Given the description of an element on the screen output the (x, y) to click on. 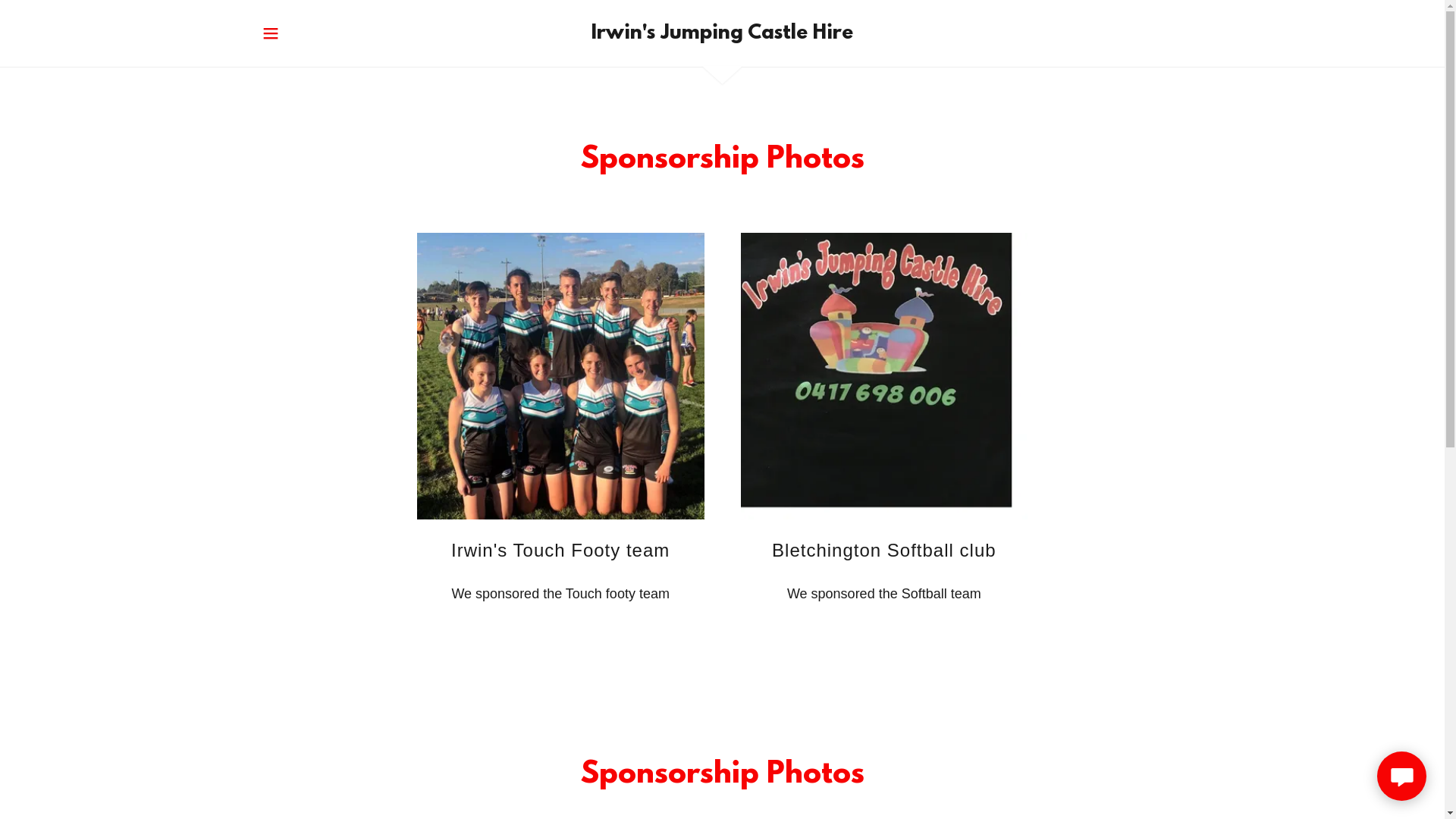
Irwin's Jumping Castle Hire Element type: text (722, 33)
